Given the description of an element on the screen output the (x, y) to click on. 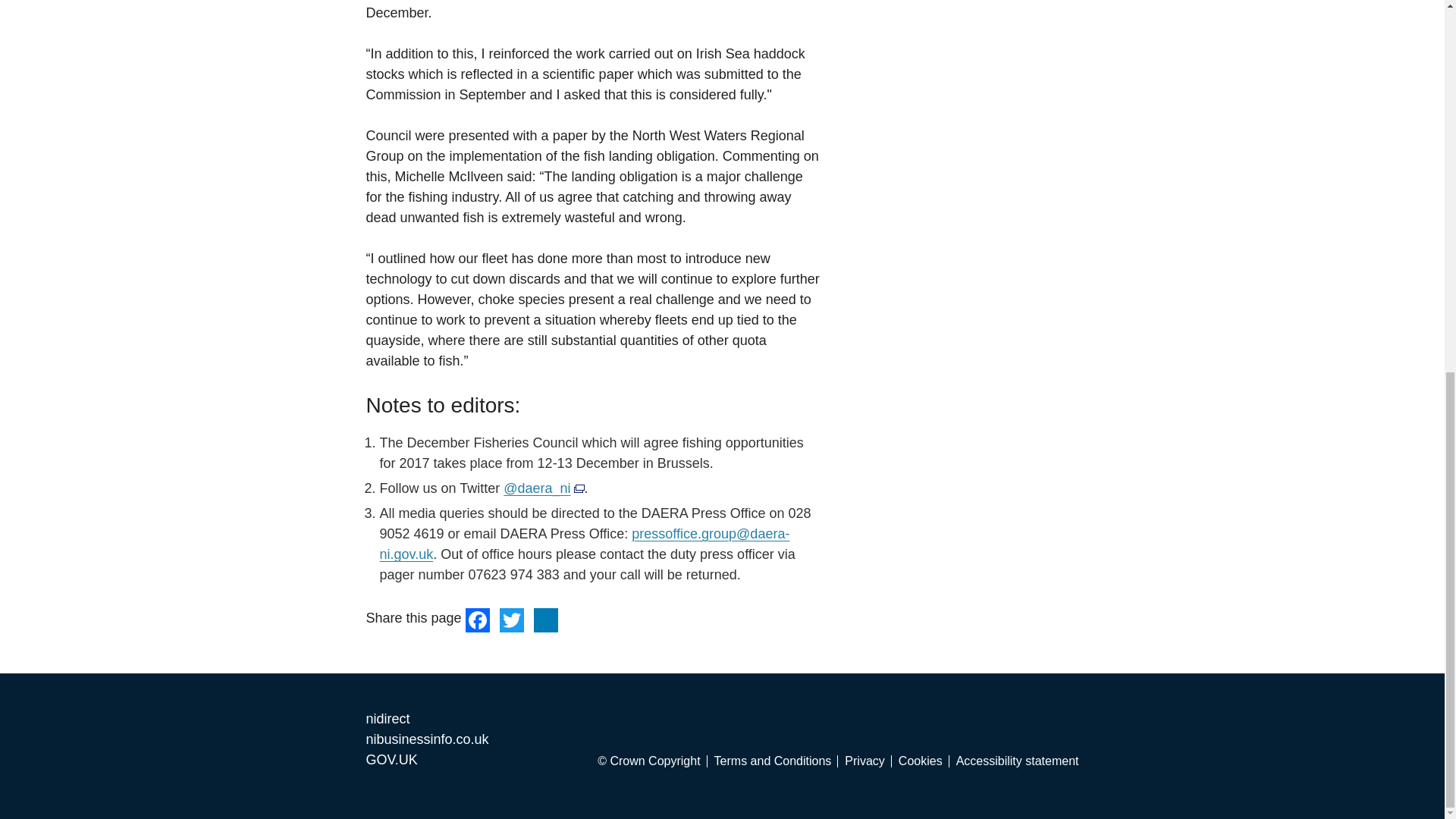
Cookies (923, 761)
Twitter (511, 619)
nibusinessinfo.co.uk (426, 739)
Terms and Conditions (776, 761)
Facebook (479, 619)
LinkedIn (545, 619)
Accessibility statement (1017, 761)
nidirect (387, 718)
GOV.UK (390, 759)
Privacy (867, 761)
